Given the description of an element on the screen output the (x, y) to click on. 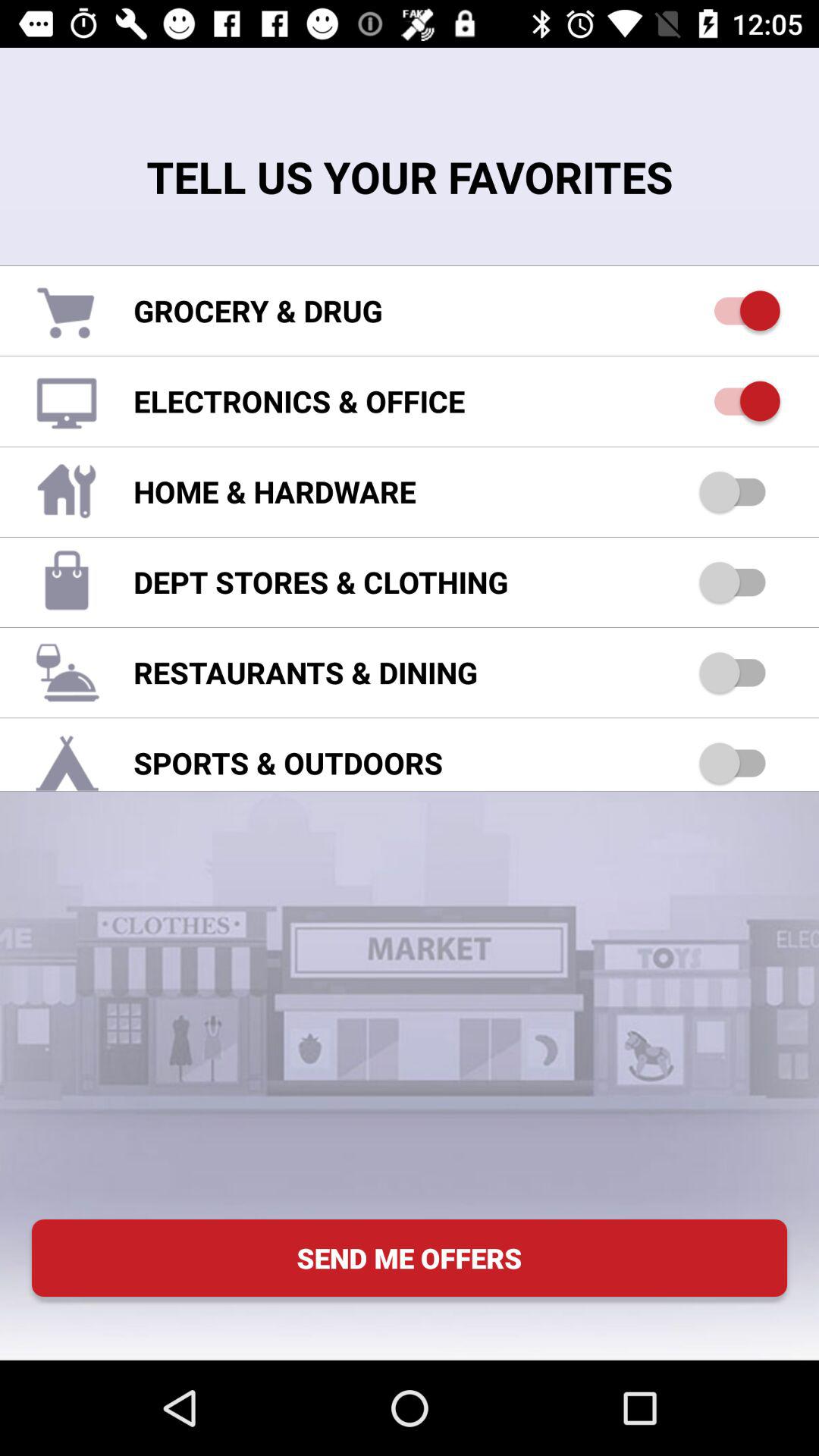
toggle favorite department (739, 582)
